Given the description of an element on the screen output the (x, y) to click on. 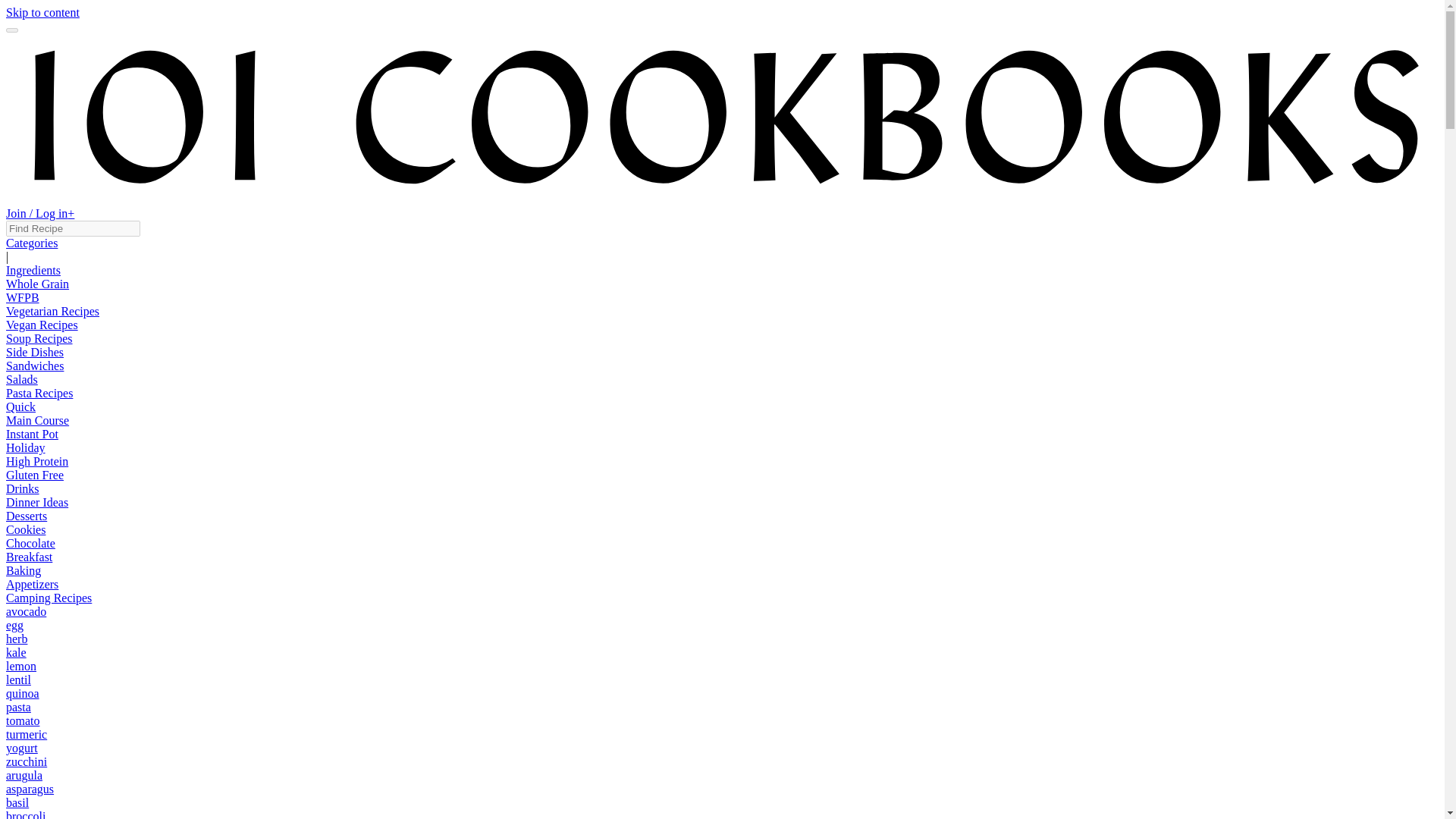
High Protein (36, 461)
Sandwiches (34, 365)
avocado (25, 611)
egg (14, 625)
Desserts (25, 515)
Salads (21, 379)
WFPB (22, 297)
Pasta Recipes (38, 392)
Gluten Free (34, 474)
Instant Pot (31, 433)
Ingredients (33, 269)
Dinner Ideas (36, 502)
Drinks (22, 488)
Soup Recipes (38, 338)
lemon (20, 666)
